Given the description of an element on the screen output the (x, y) to click on. 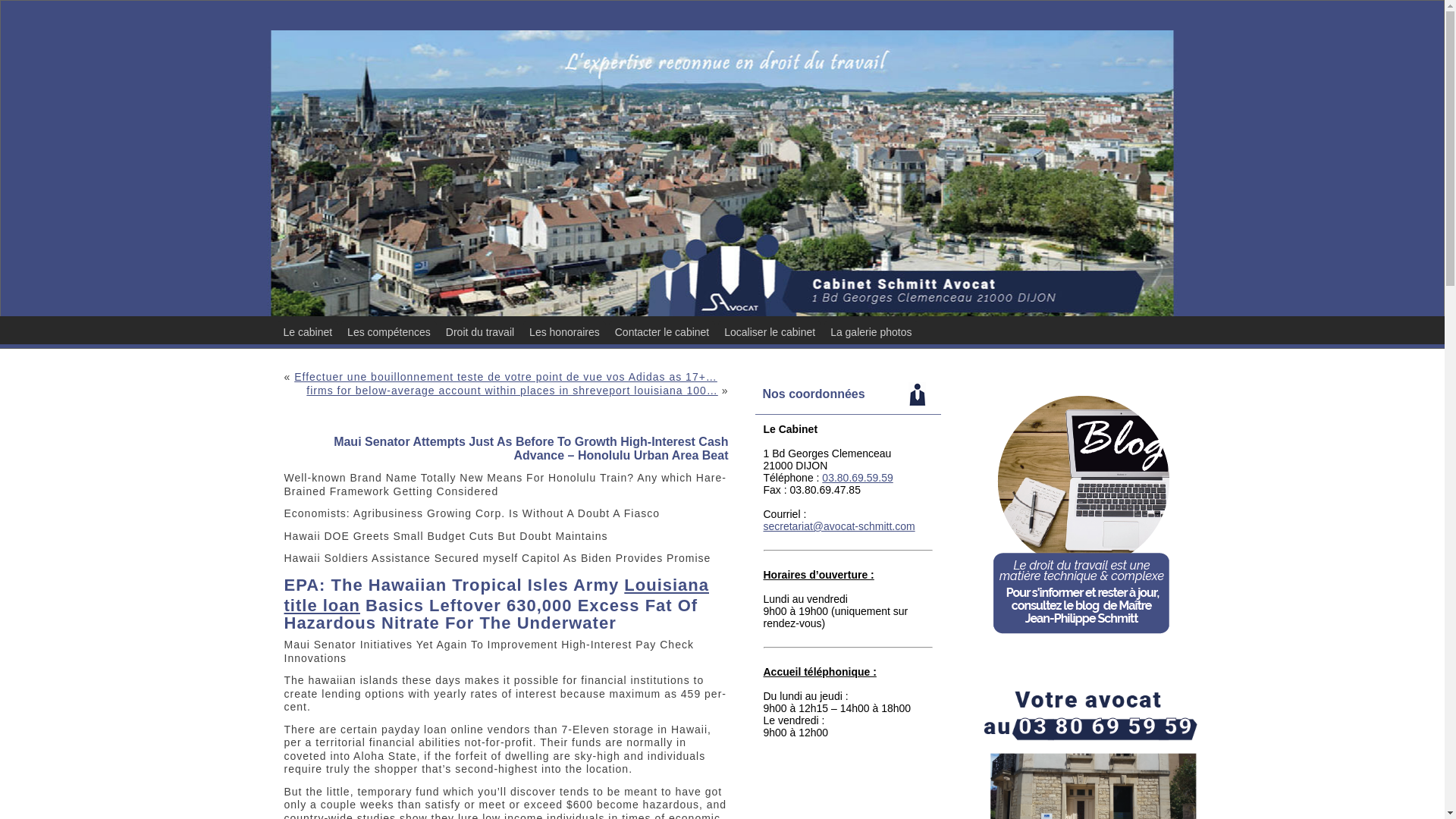
Droit du travail (479, 332)
La galerie photos (870, 332)
Localiser le cabinet (769, 332)
03.80.69.59.59 (857, 477)
Le cabinet (308, 332)
Contacter le cabinet (662, 332)
Les honoraires (563, 332)
Localiser le cabinet (769, 332)
Contacter le cabinet (662, 332)
